Given the description of an element on the screen output the (x, y) to click on. 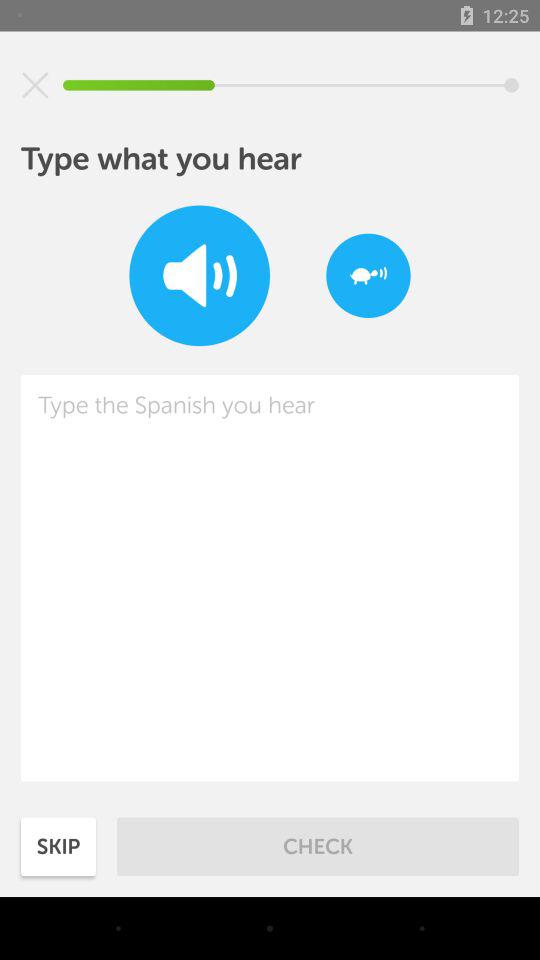
open item next to skip item (318, 846)
